Given the description of an element on the screen output the (x, y) to click on. 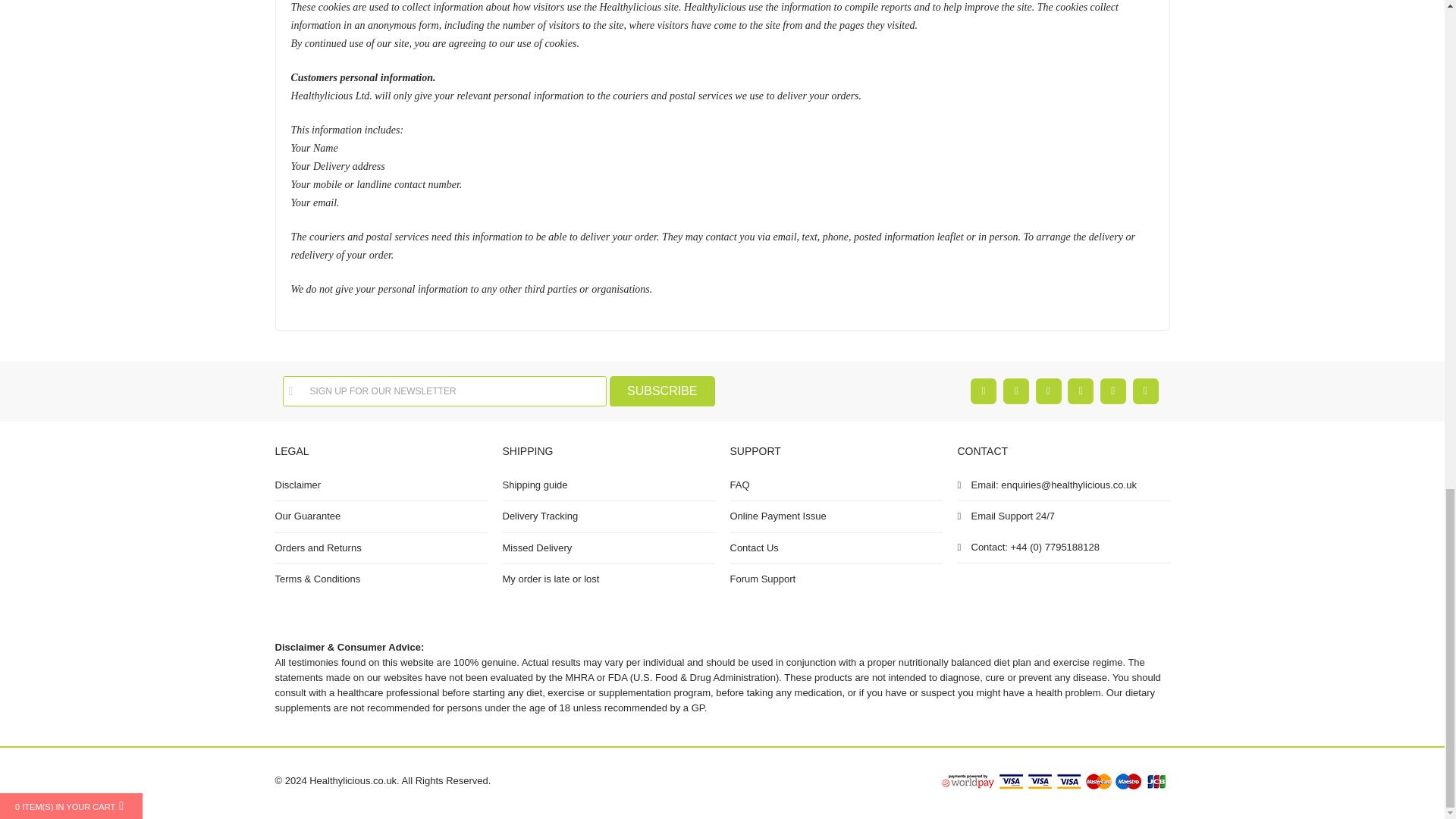
Chinese Herbs FAQ (835, 485)
Subscribe (662, 391)
Sign up for our newsletter (444, 390)
Healthylicious Pnline Payment Issue (835, 516)
Healthylicious Herbs Support (835, 579)
Contact Healthylicious (835, 548)
